Given the description of an element on the screen output the (x, y) to click on. 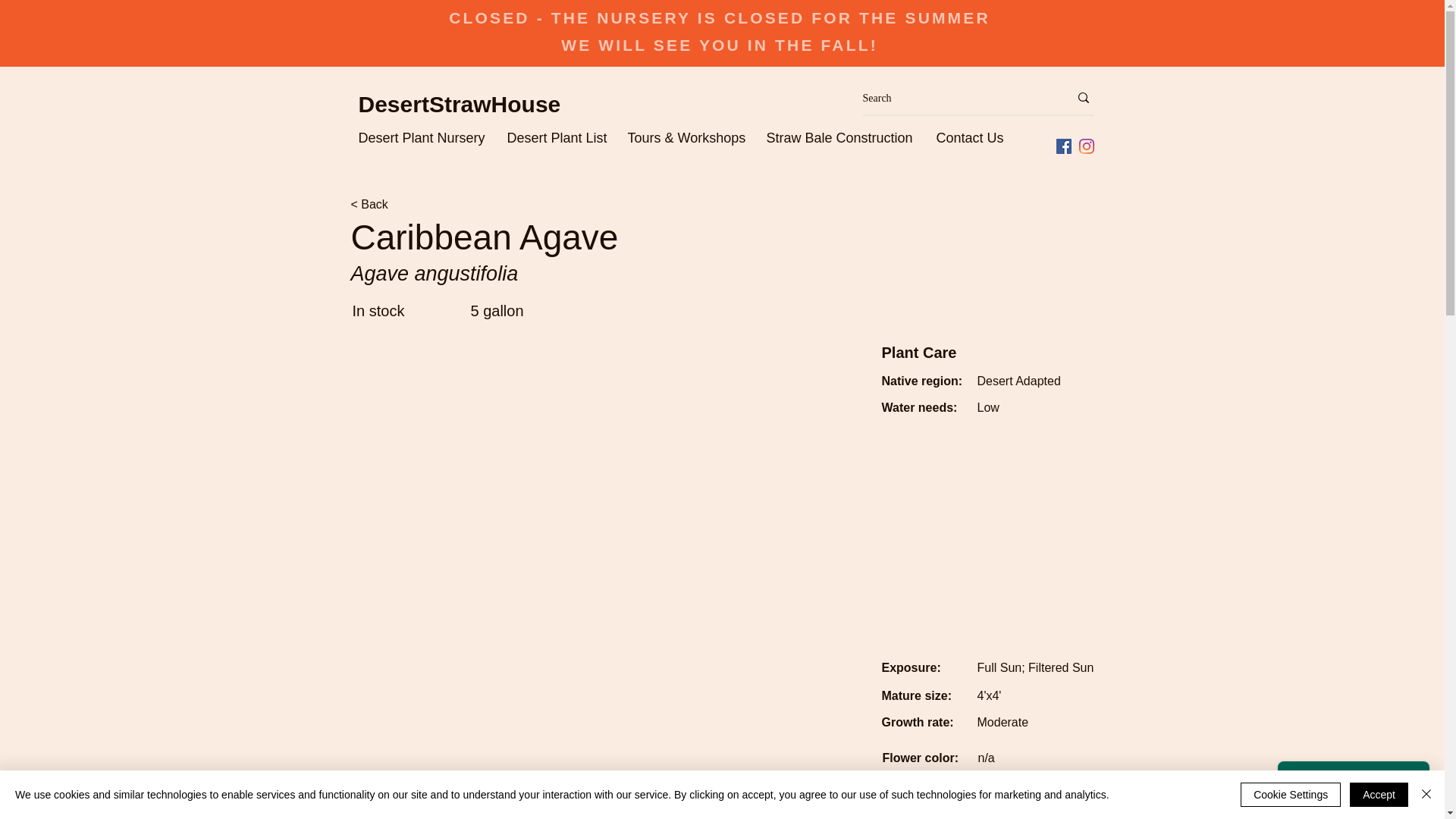
Cookie Settings (1290, 794)
Contact Us (971, 137)
Accept (1378, 794)
Straw Bale Construction (843, 137)
Desert Plant List (559, 137)
Desert Plant Nursery (424, 137)
DesertStrawHouse (459, 104)
